Given the description of an element on the screen output the (x, y) to click on. 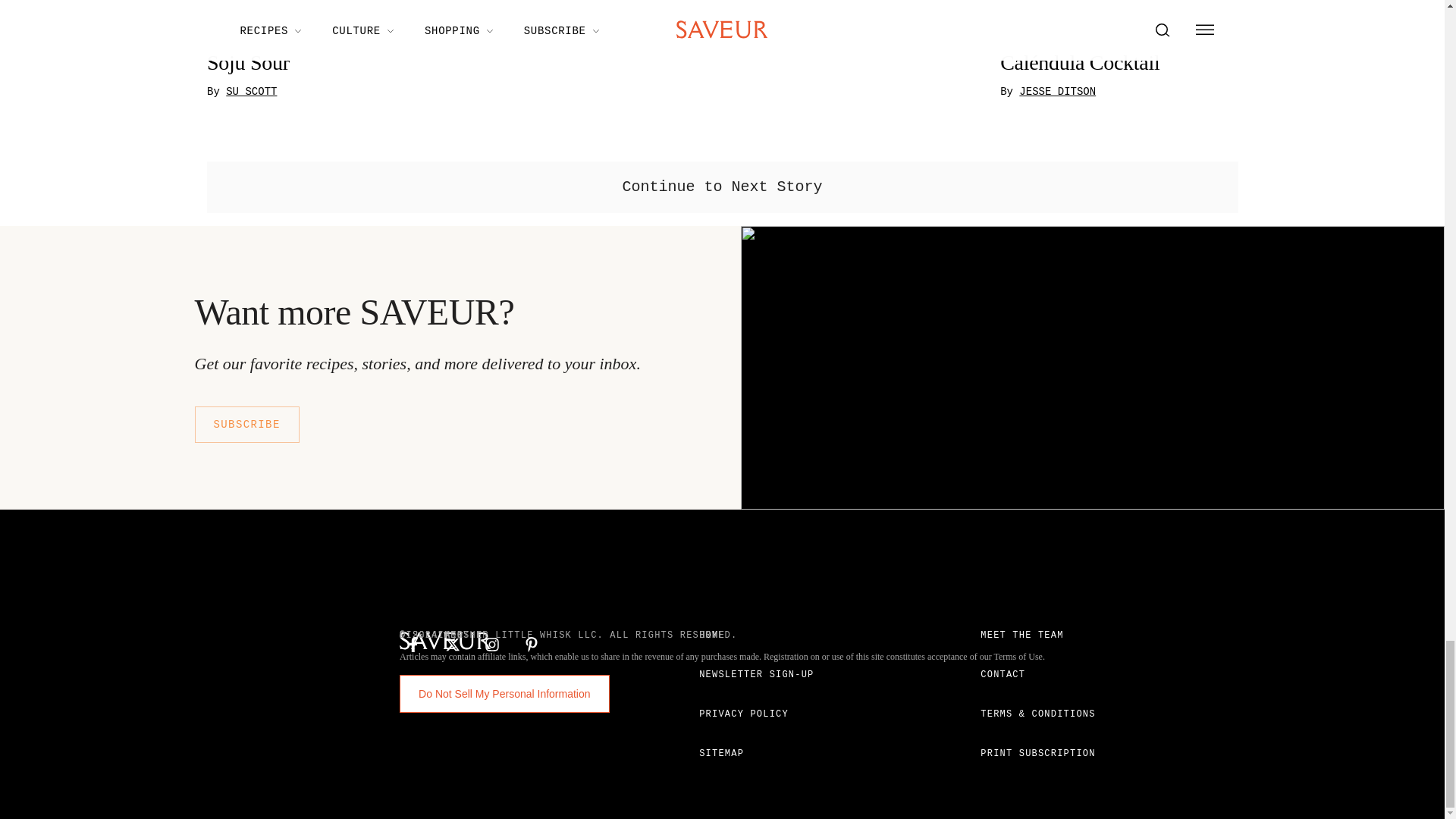
SU SCOTT (250, 92)
Soju Sour (595, 63)
JESSE DITSON (1057, 92)
